Given the description of an element on the screen output the (x, y) to click on. 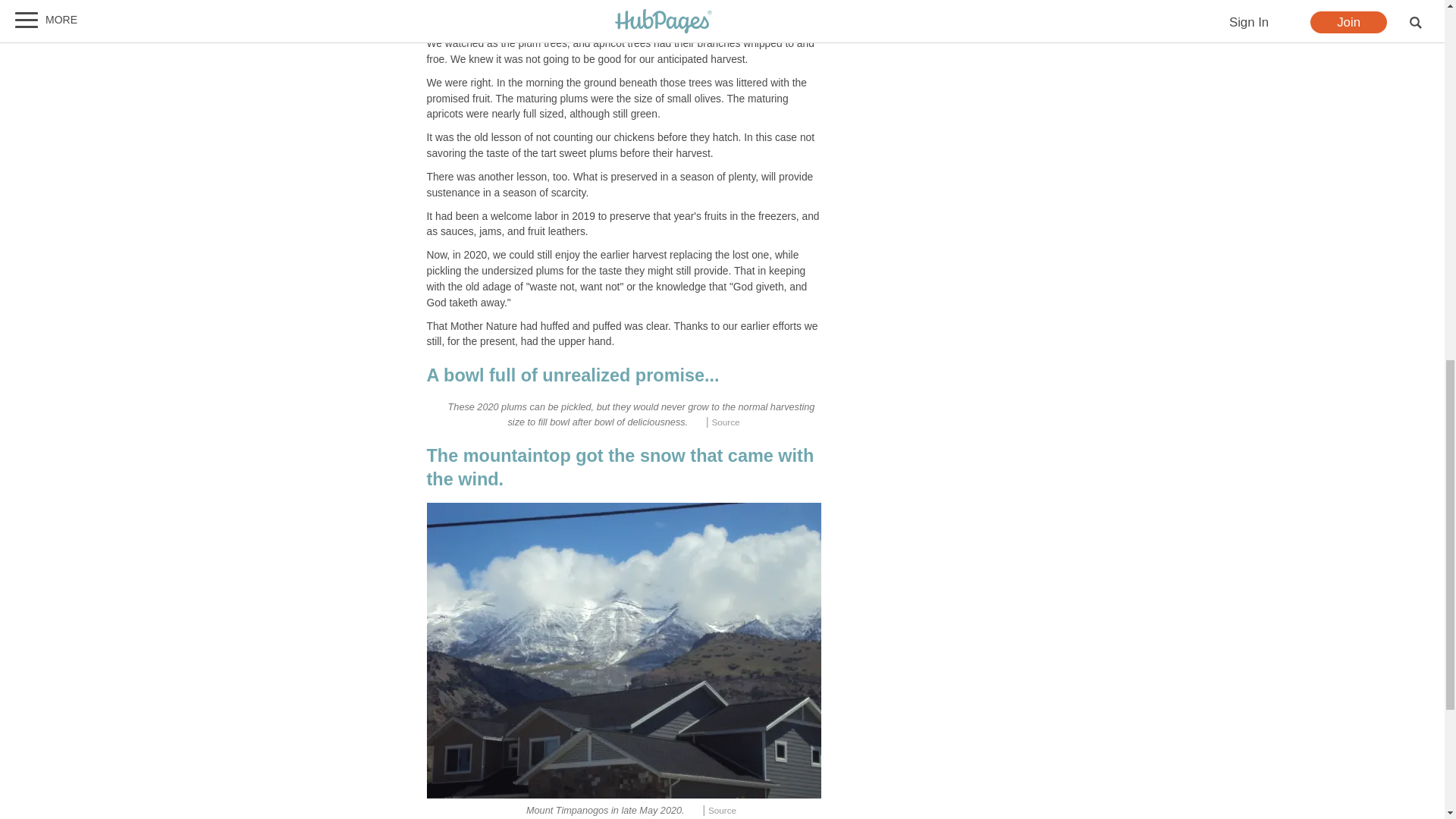
Mount Timpanogos in late May 2020. (623, 650)
